Given the description of an element on the screen output the (x, y) to click on. 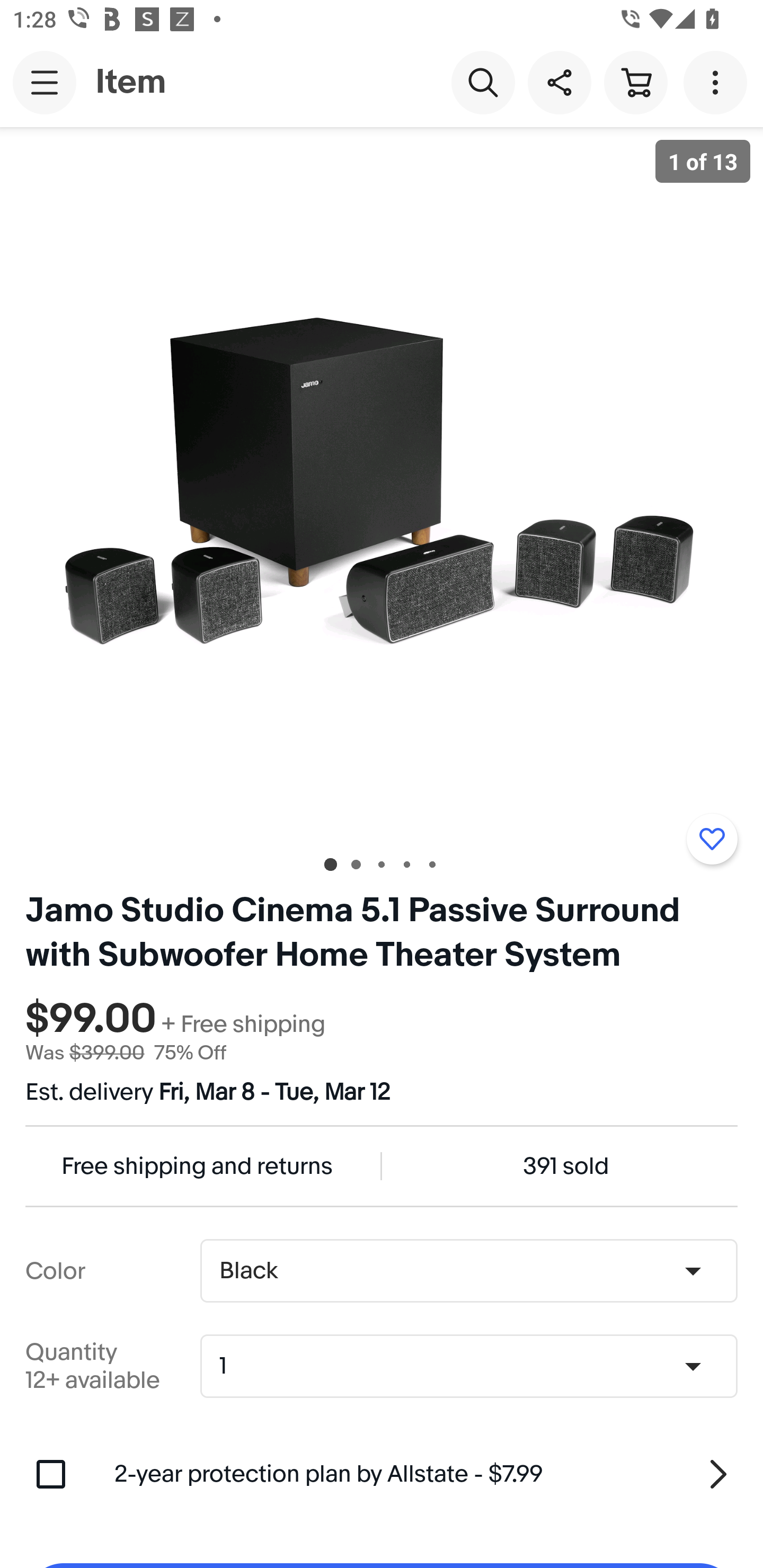
Main navigation, open (44, 82)
Search (482, 81)
Share this item (559, 81)
Cart button shopping cart (635, 81)
More options (718, 81)
Item image 1 of 13 (381, 482)
Add to watchlist (711, 838)
Color,Black Black (468, 1270)
Quantity,1,12+ available 1 (474, 1365)
2-year protection plan by Allstate - $7.99 (425, 1473)
